Given the description of an element on the screen output the (x, y) to click on. 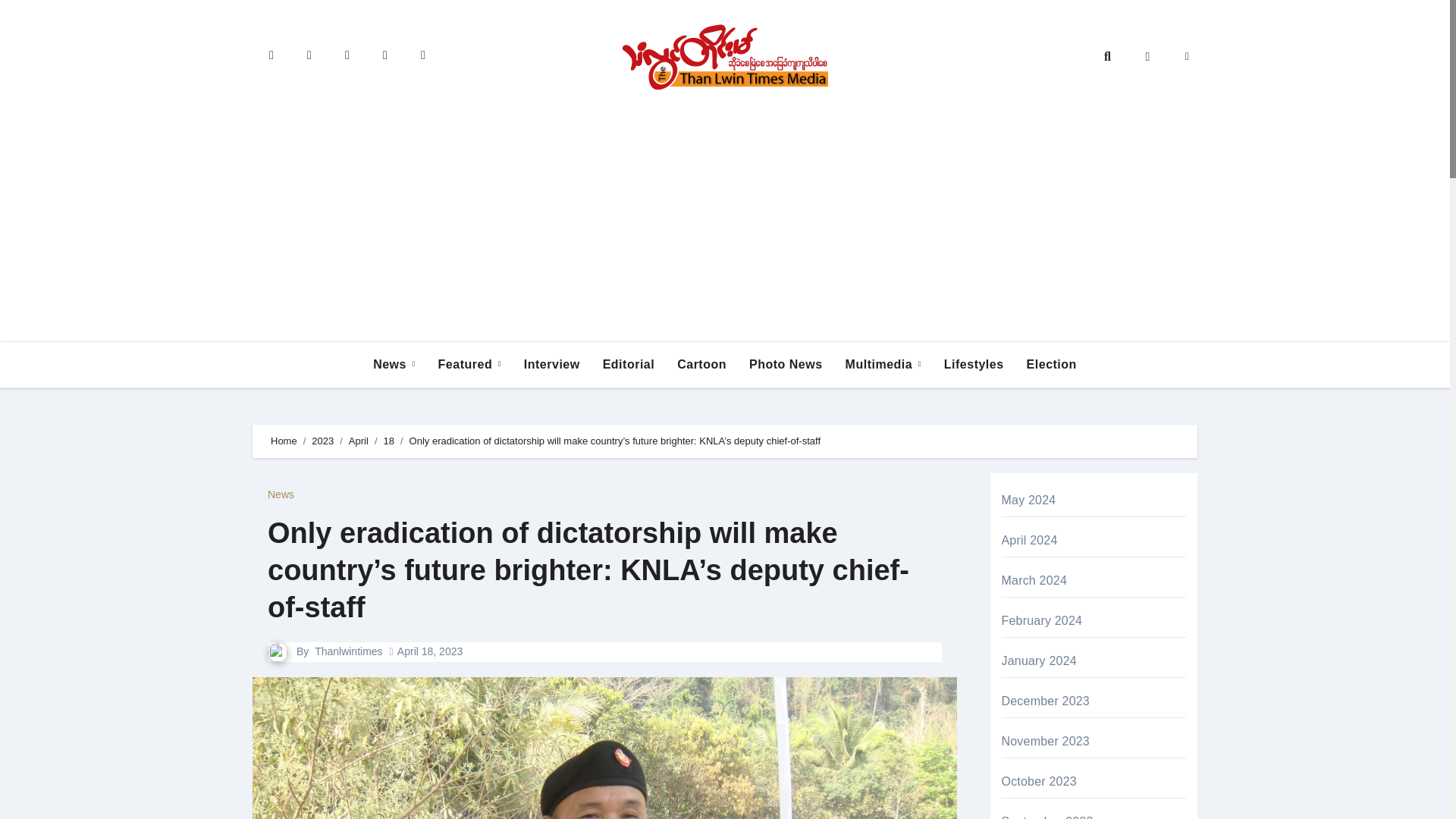
News (393, 364)
April (358, 440)
Lifestyles (973, 364)
Cartoon (701, 364)
Editorial (628, 364)
Election (1050, 364)
Featured (469, 364)
2023 (322, 440)
News (393, 364)
18 (389, 440)
Featured (469, 364)
News (280, 493)
Interview (551, 364)
Home (283, 440)
